Given the description of an element on the screen output the (x, y) to click on. 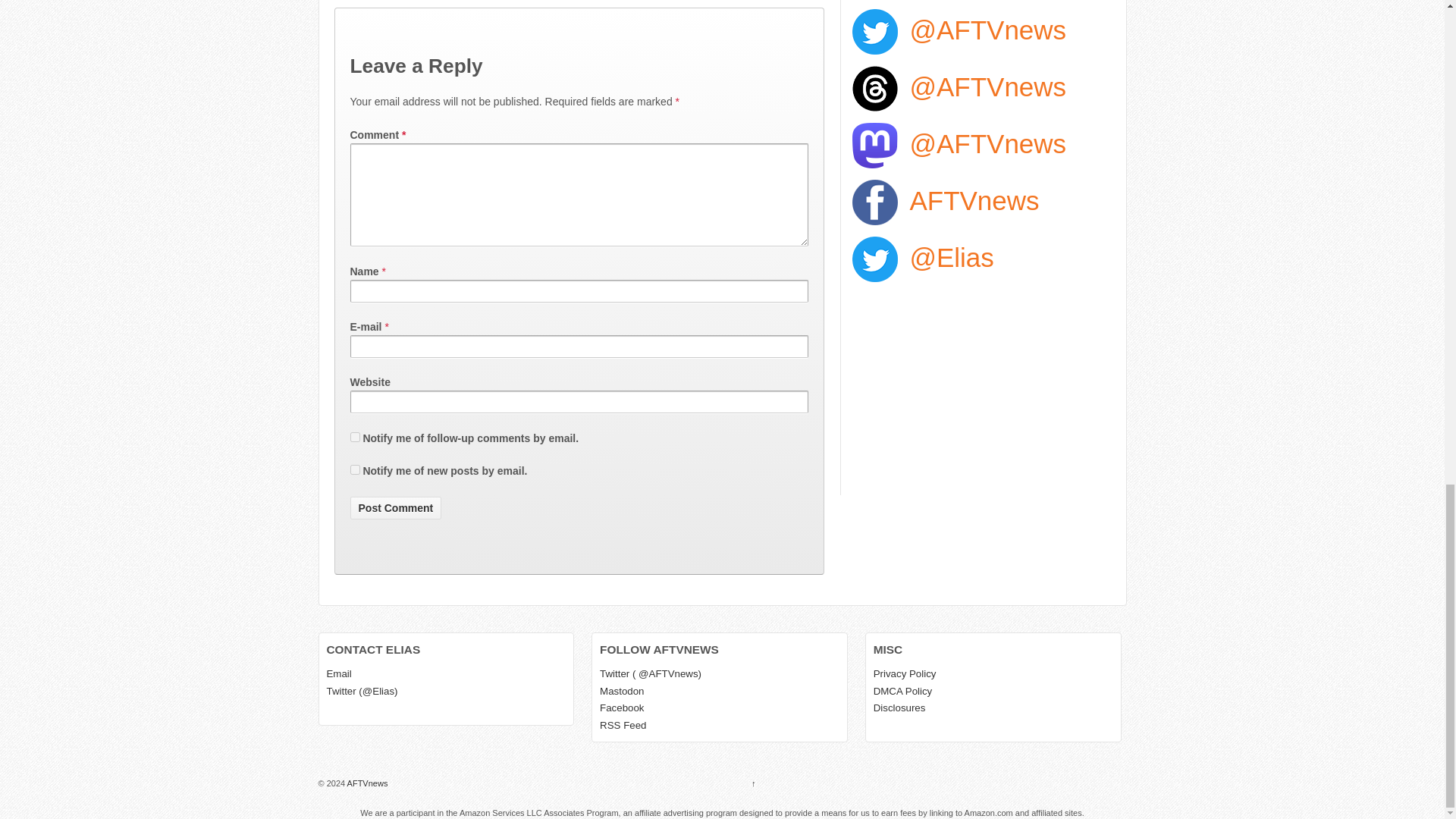
subscribe (354, 437)
subscribe (354, 470)
Post Comment (396, 507)
Post Comment (396, 507)
